Given the description of an element on the screen output the (x, y) to click on. 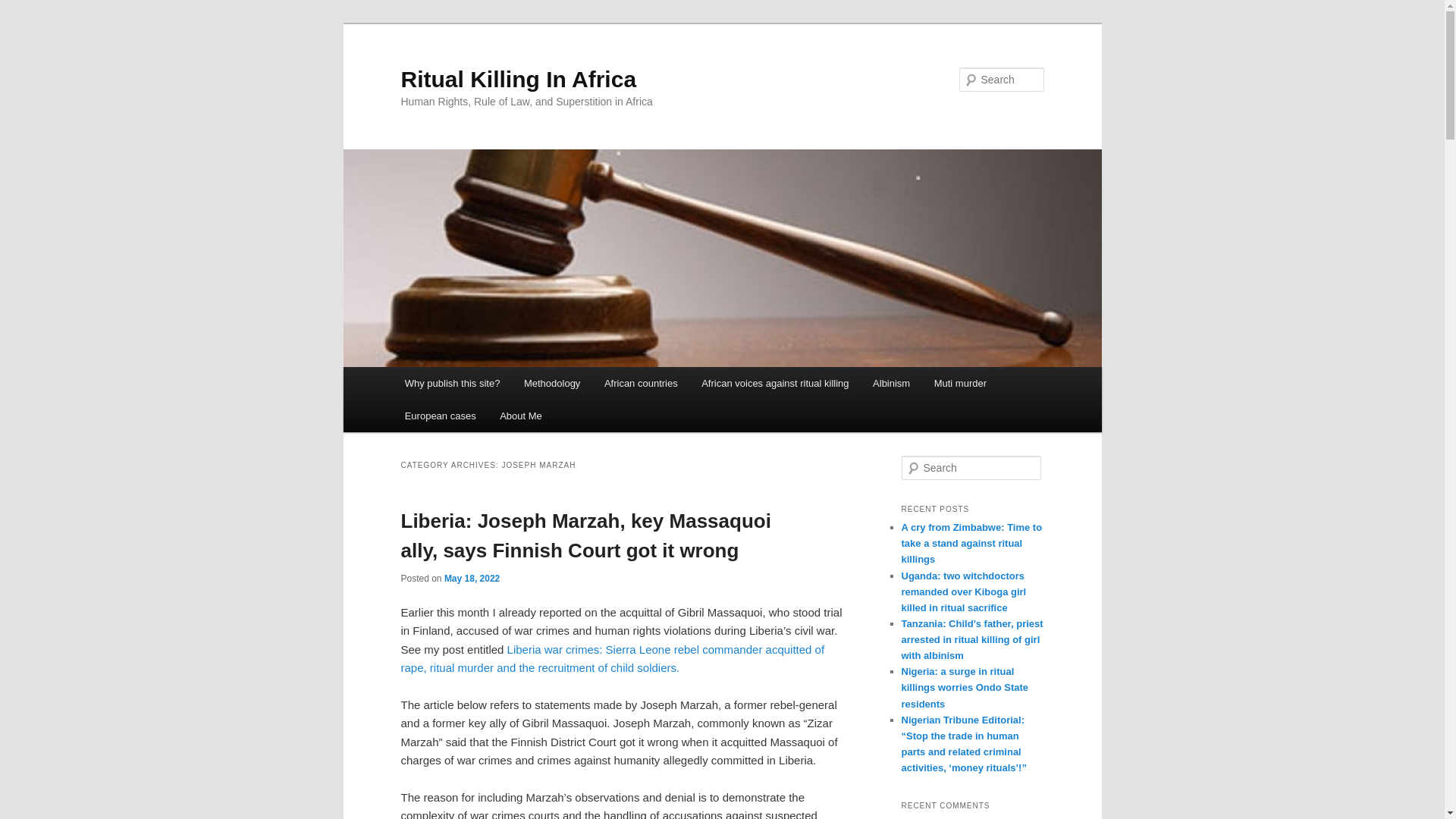
African countries (640, 382)
08:13 (471, 578)
Albinism (890, 382)
Ritual Killing In Africa (518, 78)
Why publish this site? (452, 382)
Methodology (552, 382)
Search (24, 8)
